Given the description of an element on the screen output the (x, y) to click on. 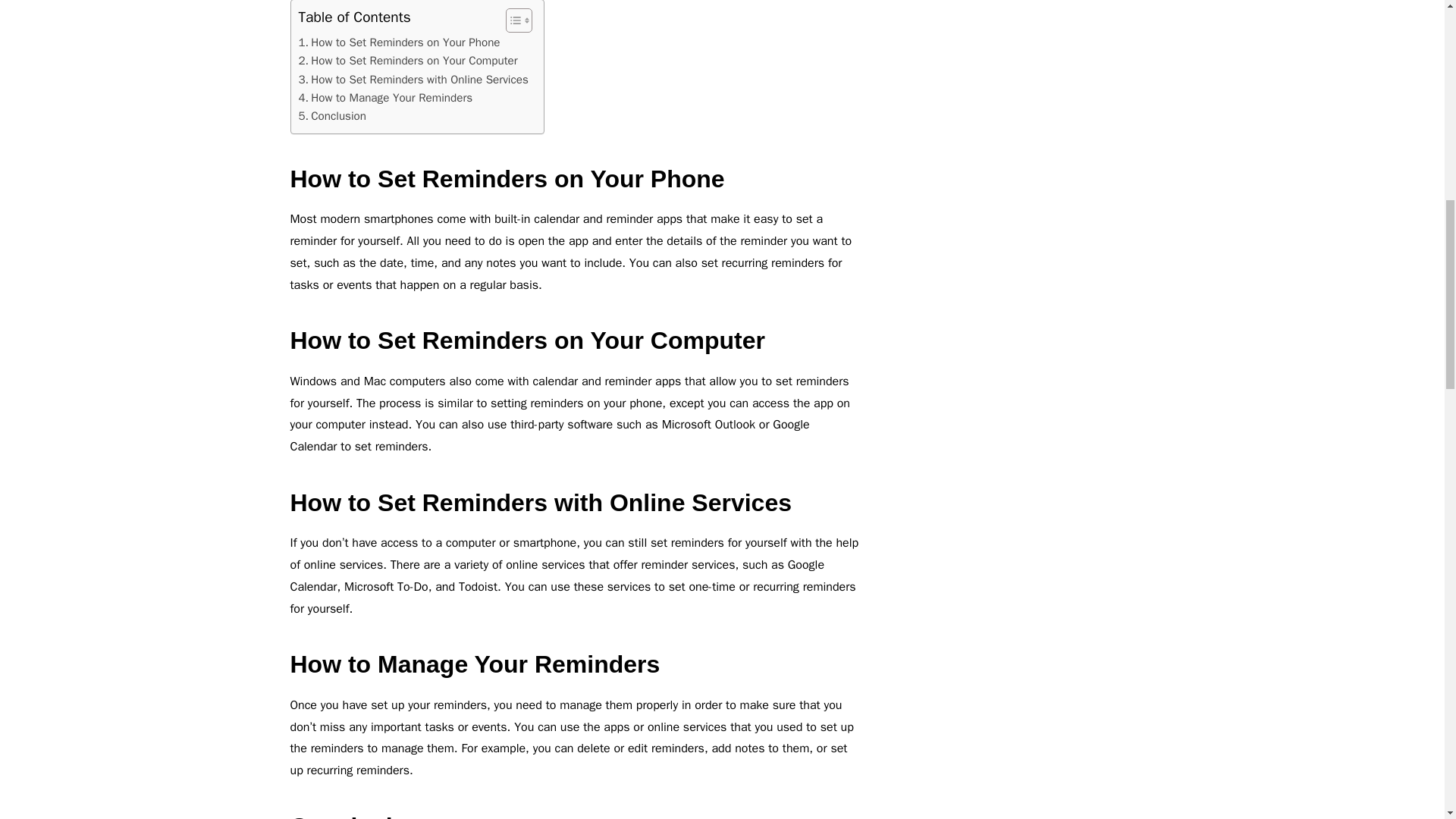
Conclusion (332, 116)
How to Set Reminders on Your Computer (408, 60)
How to Set Reminders on Your Phone (399, 42)
How to Manage Your Reminders (385, 97)
How to Set Reminders with Online Services (413, 79)
How to Set Reminders with Online Services (413, 79)
Conclusion (332, 116)
How to Set Reminders on Your Phone (399, 42)
How to Set Reminders on Your Computer (408, 60)
How to Manage Your Reminders (385, 97)
